Given the description of an element on the screen output the (x, y) to click on. 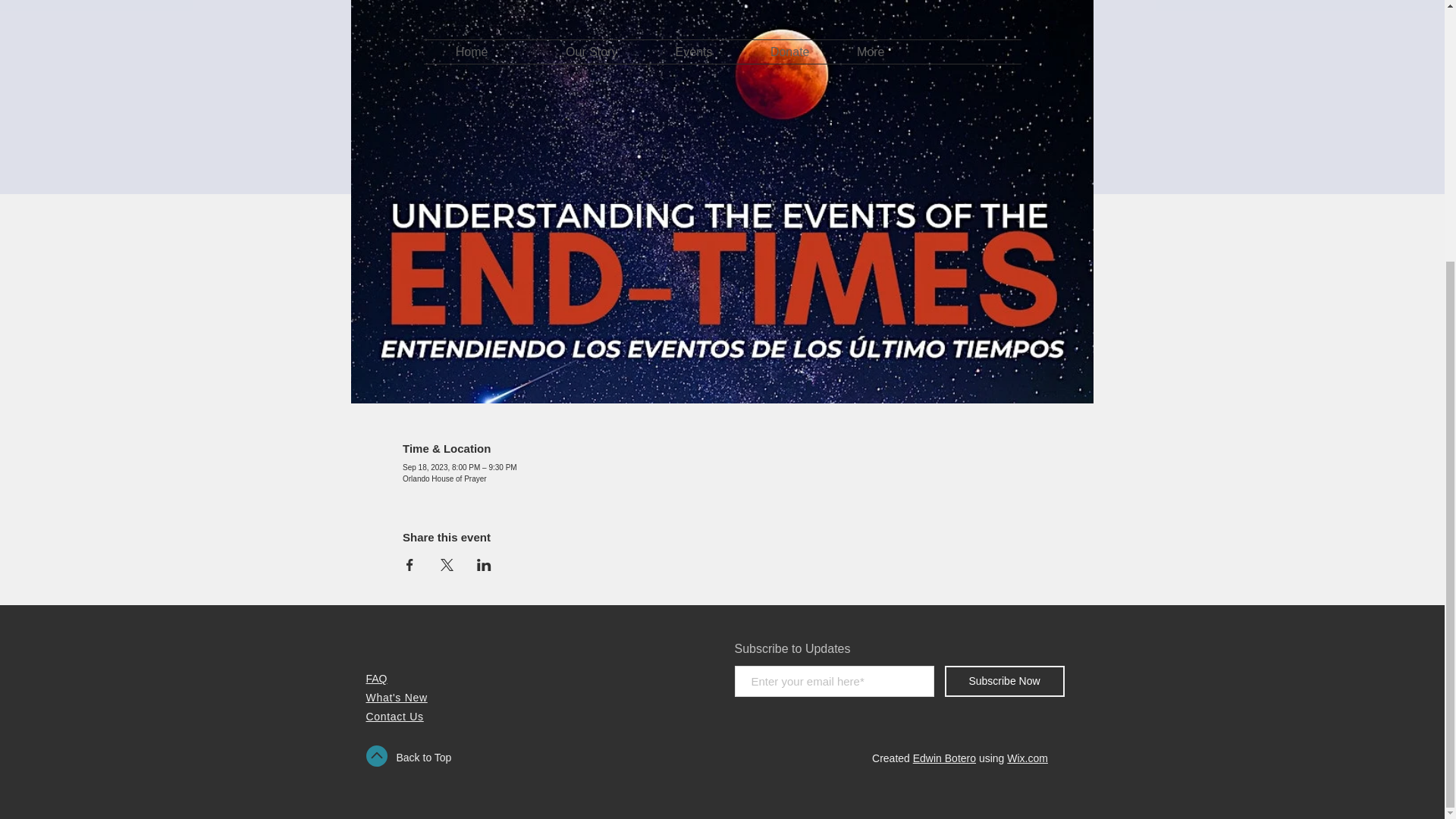
Edwin Botero (943, 758)
FAQ (376, 678)
Subscribe Now (1004, 680)
Wix.com (1027, 758)
Back to Top (423, 757)
Contact Us (394, 716)
What's New (395, 697)
